Given the description of an element on the screen output the (x, y) to click on. 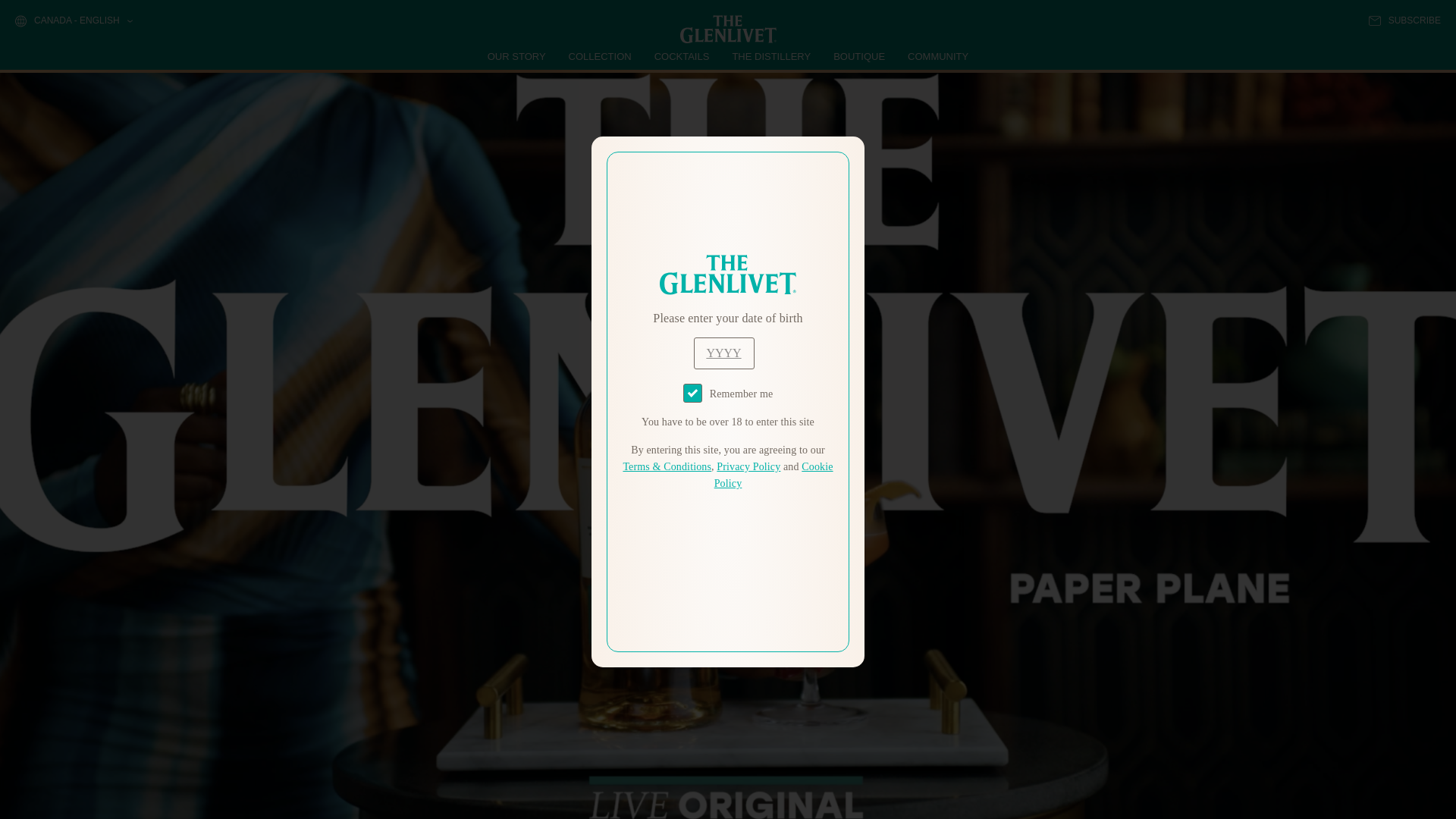
Cookie Policy (773, 474)
COLLECTION (600, 56)
COCKTAILS (681, 56)
Privacy Policy (748, 466)
year (723, 353)
COMMUNITY (937, 56)
OUR STORY (516, 56)
THE DISTILLERY (771, 56)
BOUTIQUE (858, 56)
SUBSCRIBE (1404, 20)
CANADA - ENGLISH (73, 21)
